Given the description of an element on the screen output the (x, y) to click on. 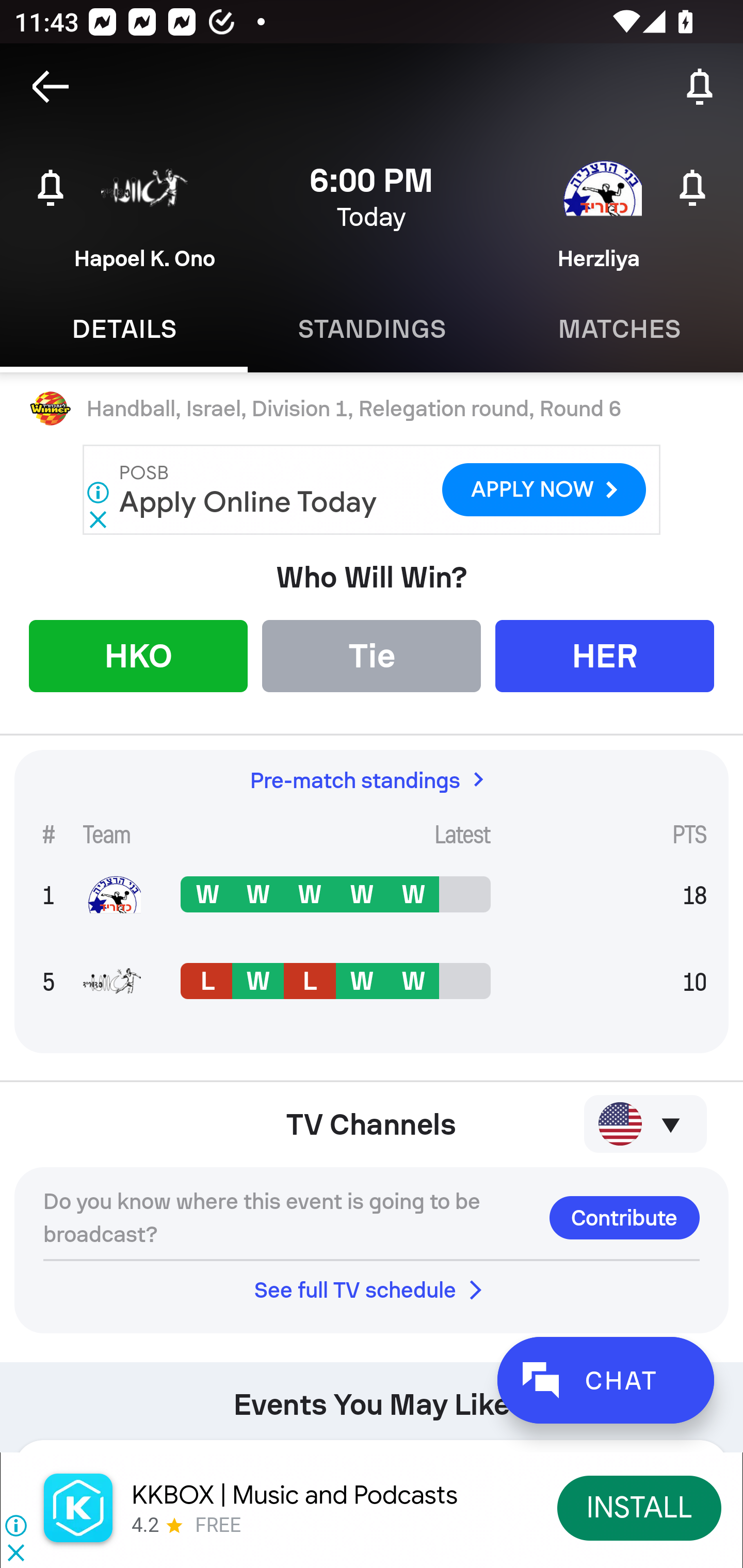
Navigate up (50, 86)
Standings STANDINGS (371, 329)
Matches MATCHES (619, 329)
POSB (144, 472)
APPLY NOW (543, 489)
Apply Online Today (248, 501)
HKO (137, 655)
Tie (371, 655)
HER (604, 655)
Contribute (624, 1217)
See full TV schedule (371, 1289)
CHAT (605, 1380)
INSTALL (639, 1507)
KKBOX | Music and Podcasts (294, 1494)
